Given the description of an element on the screen output the (x, y) to click on. 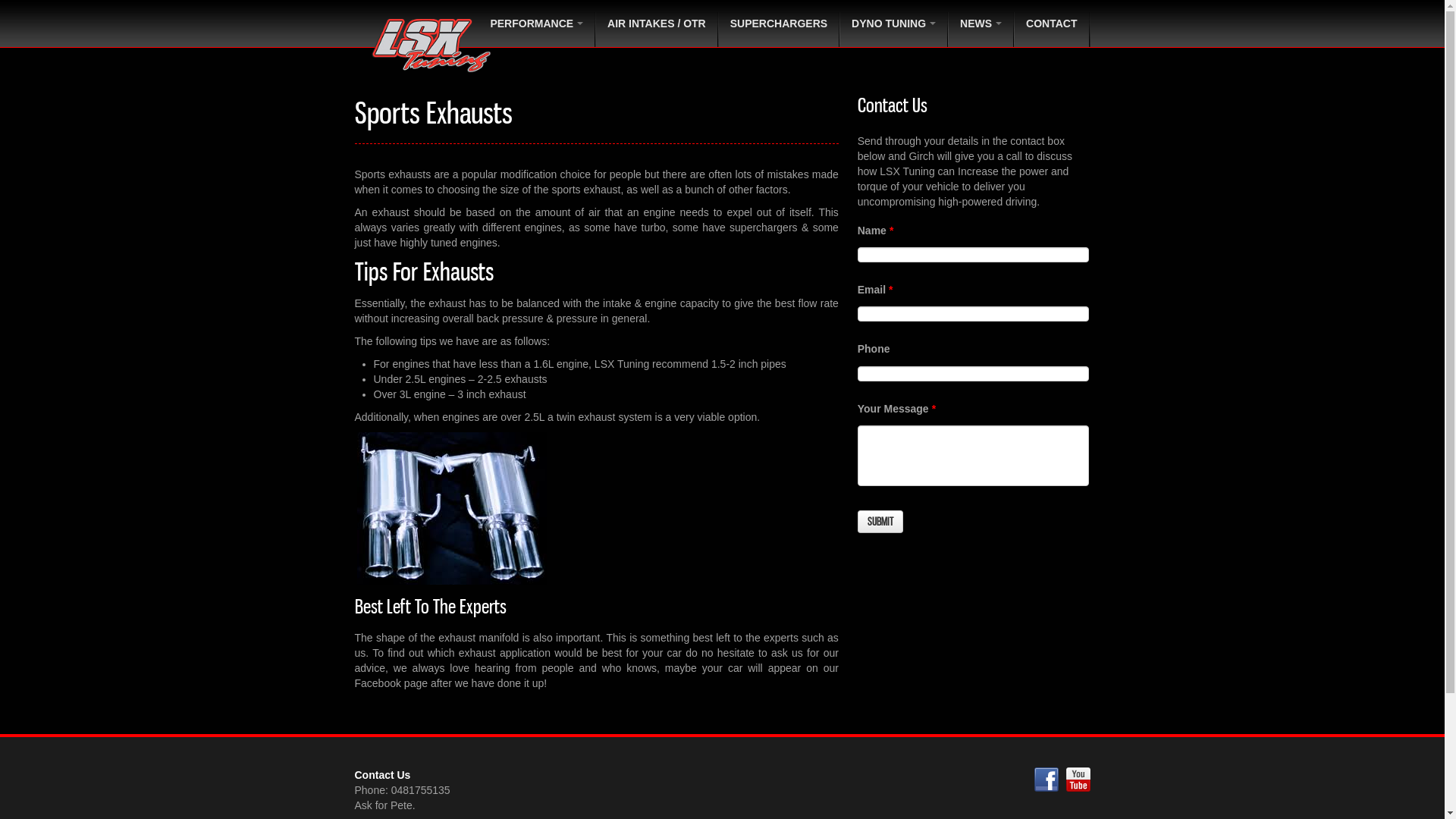
PERFORMANCE Element type: text (537, 23)
SUPERCHARGERS Element type: text (779, 23)
NEWS Element type: text (981, 23)
DYNO TUNING Element type: text (894, 23)
CONTACT Element type: text (1051, 23)
SUBMIT Element type: text (880, 521)
AIR INTAKES / OTR Element type: text (657, 23)
